Given the description of an element on the screen output the (x, y) to click on. 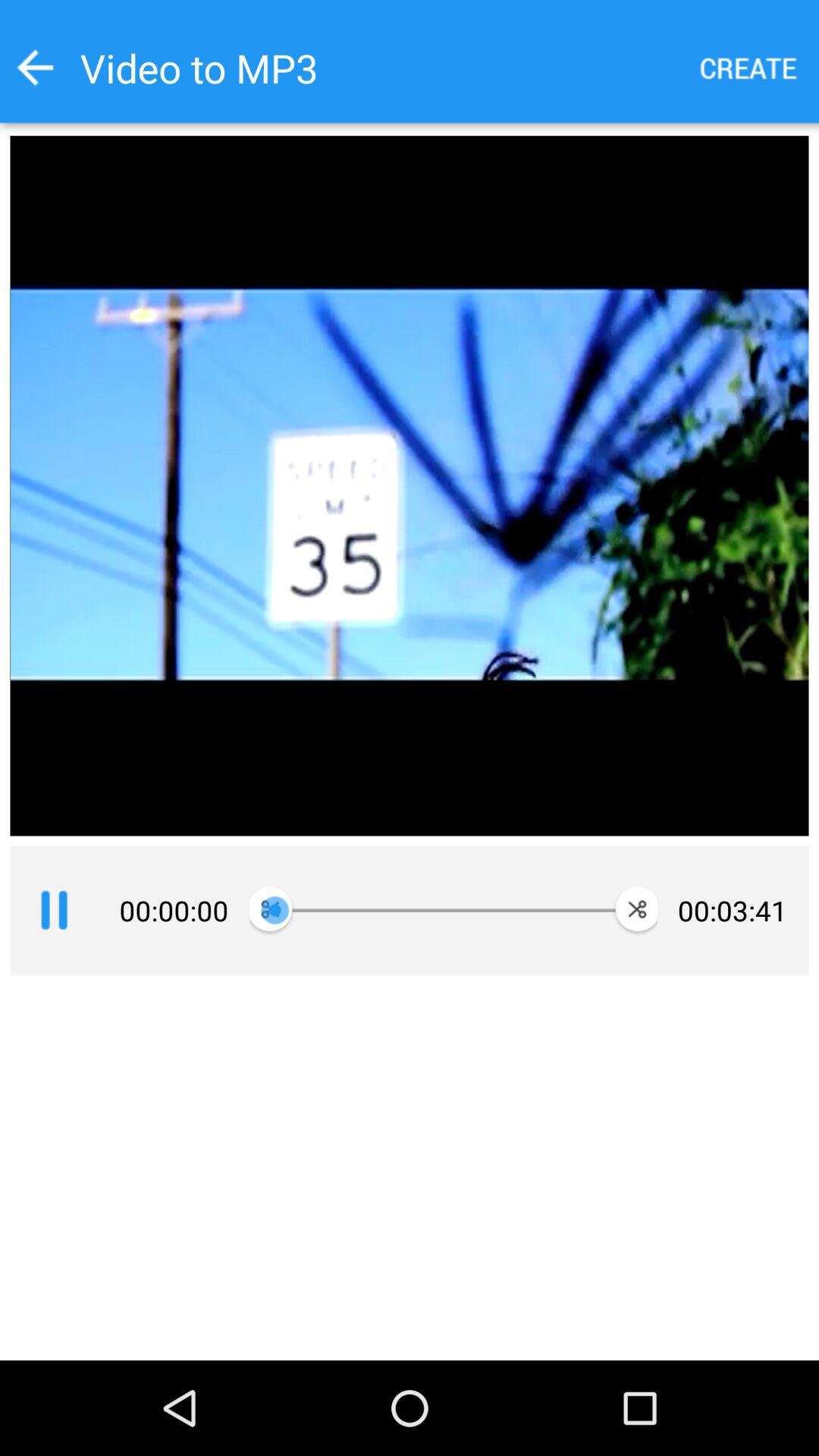
create mp3 (749, 67)
